Given the description of an element on the screen output the (x, y) to click on. 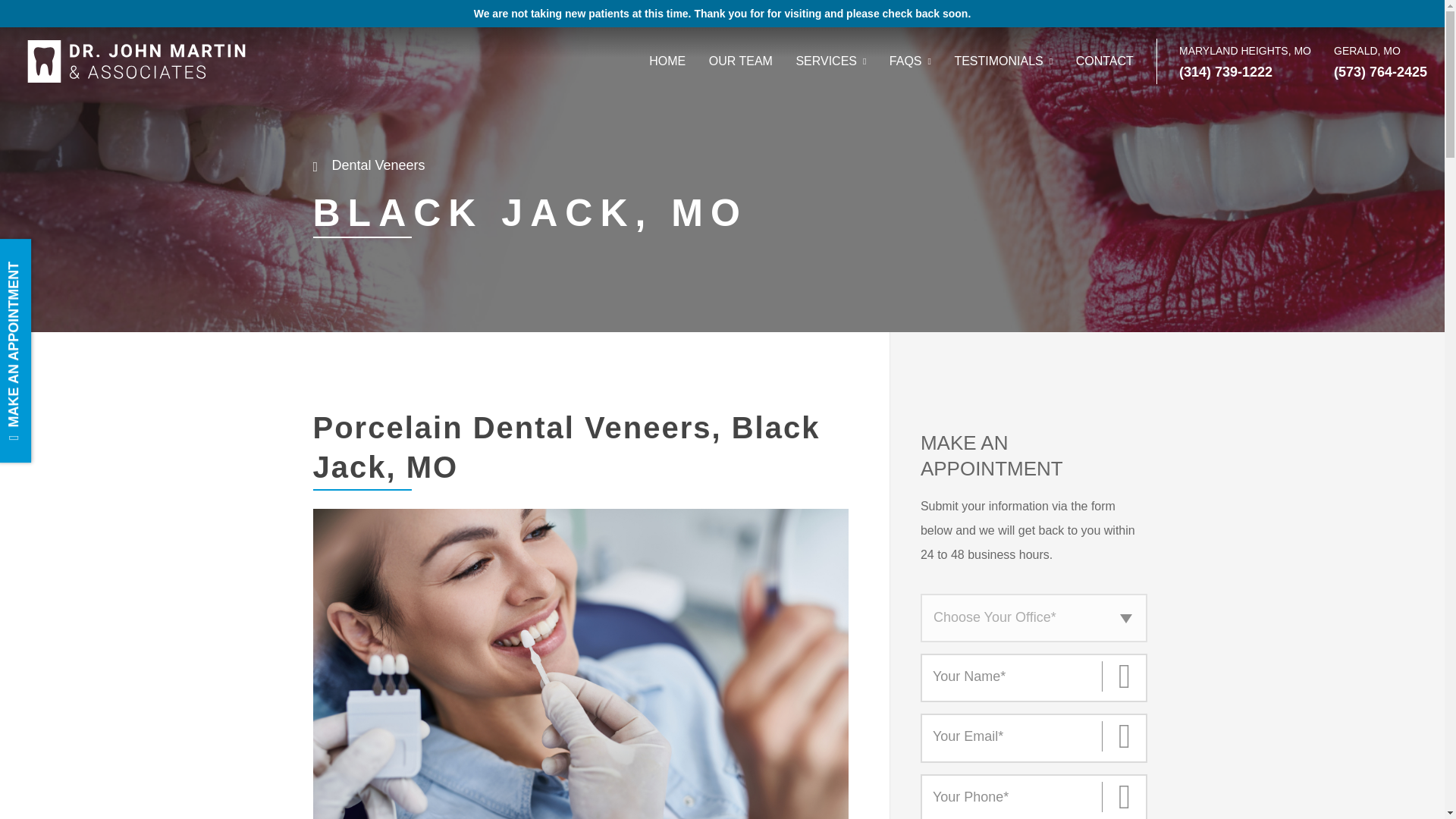
TESTIMONIALS (1002, 61)
  MAKE AN APPOINTMENT (110, 255)
Dental Veneers (370, 165)
FAQS (910, 61)
OUR TEAM (740, 61)
CONTACT (1104, 61)
SERVICES (830, 61)
HOME (667, 61)
